Given the description of an element on the screen output the (x, y) to click on. 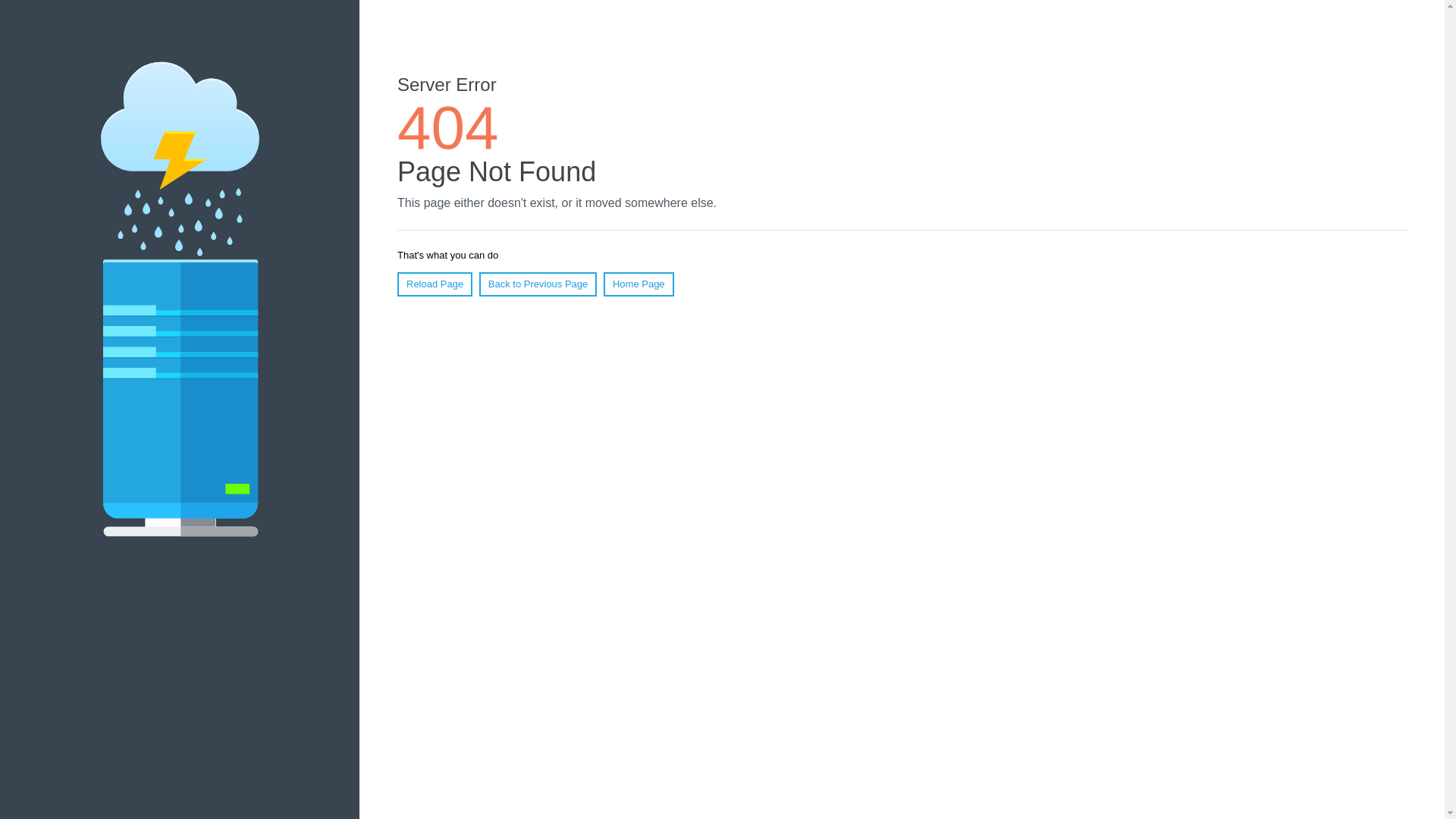
Back to Previous Page Element type: text (538, 284)
Reload Page Element type: text (434, 284)
Home Page Element type: text (638, 284)
